Given the description of an element on the screen output the (x, y) to click on. 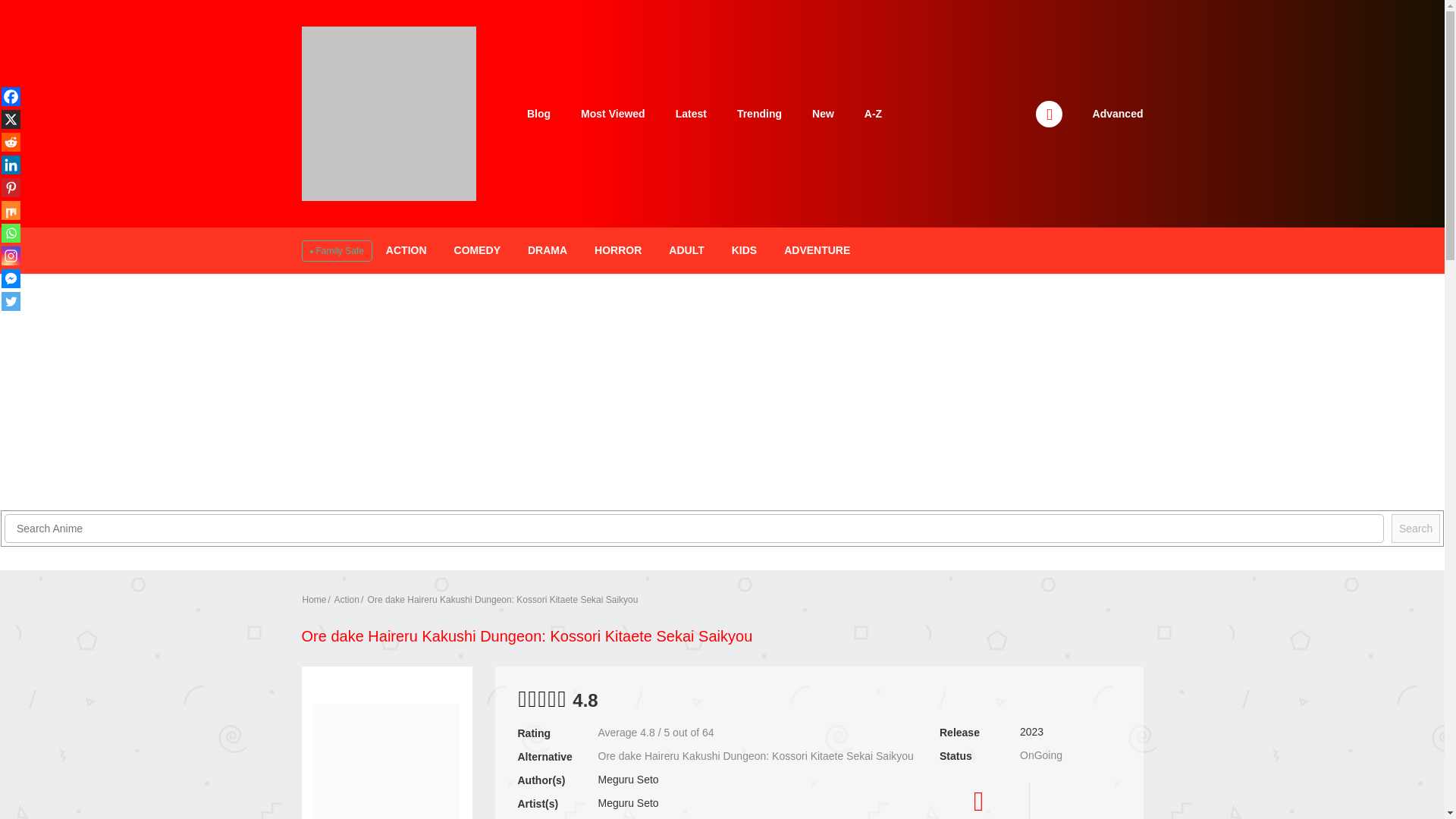
Latest (691, 113)
Trending (759, 113)
Search (1415, 528)
New (822, 113)
Family Safe (335, 250)
Meguru Seto (627, 802)
A-Z (872, 113)
Meguru Seto (627, 779)
Watch Anime List (388, 112)
